Given the description of an element on the screen output the (x, y) to click on. 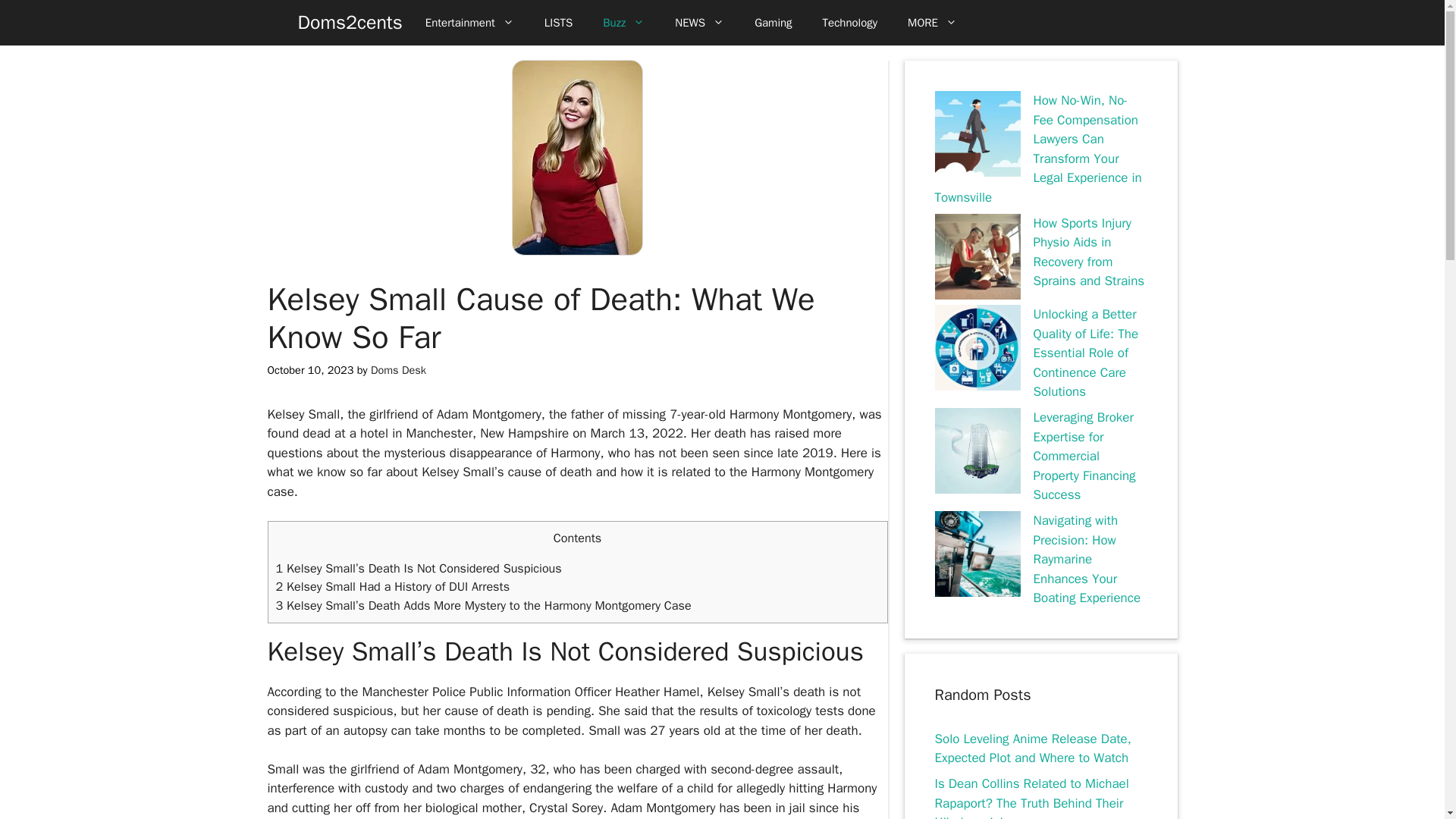
Doms Desk (398, 369)
LISTS (558, 22)
View all posts by Doms Desk (398, 369)
Entertainment (469, 22)
Technology (850, 22)
MORE (932, 22)
